Given the description of an element on the screen output the (x, y) to click on. 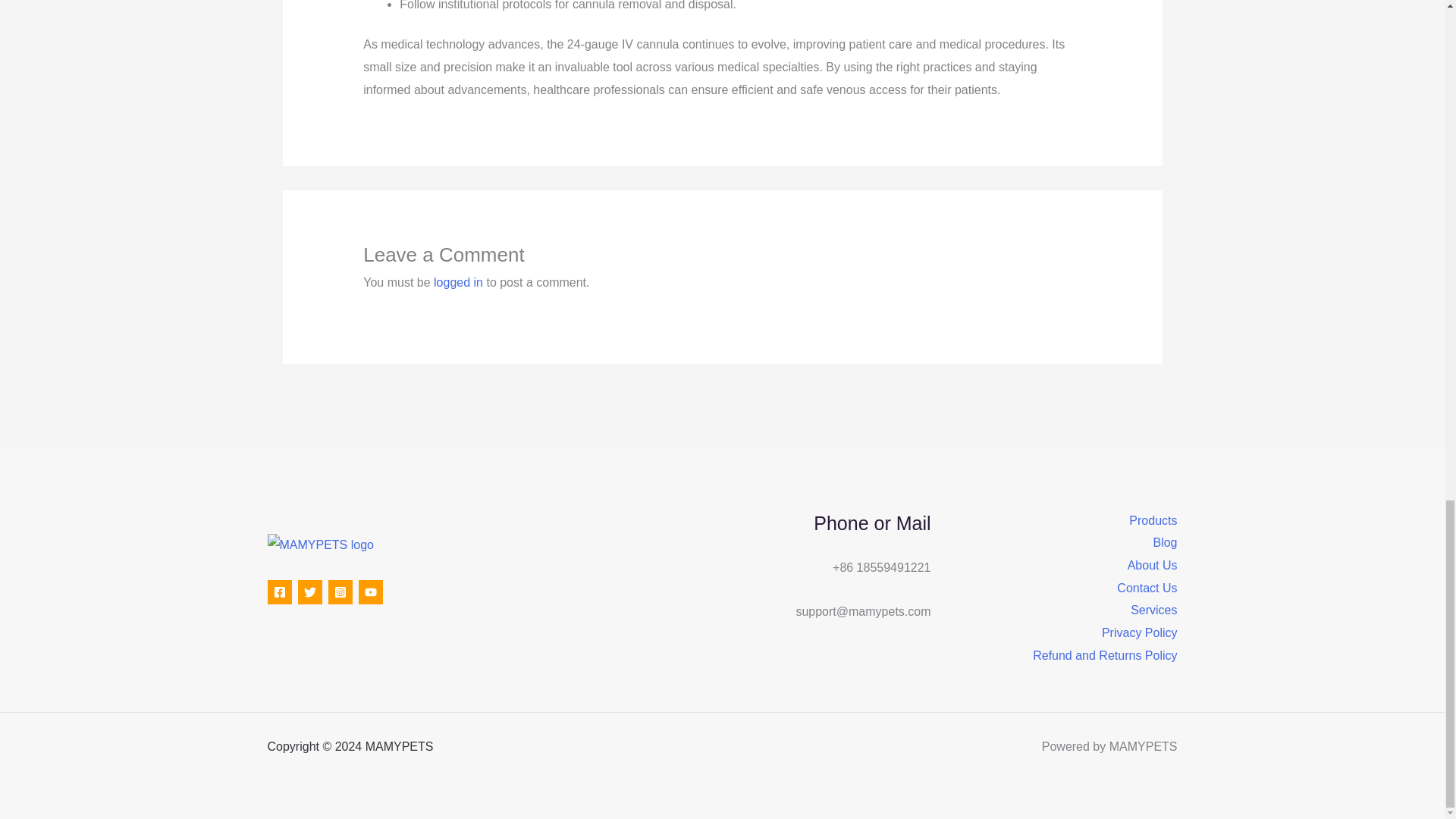
About Us (1151, 565)
Contact Us (1146, 588)
Products (1152, 520)
Refund and Returns Policy (1104, 655)
Privacy Policy (1139, 632)
Blog (1164, 542)
logged in (458, 282)
Services (1153, 609)
